Given the description of an element on the screen output the (x, y) to click on. 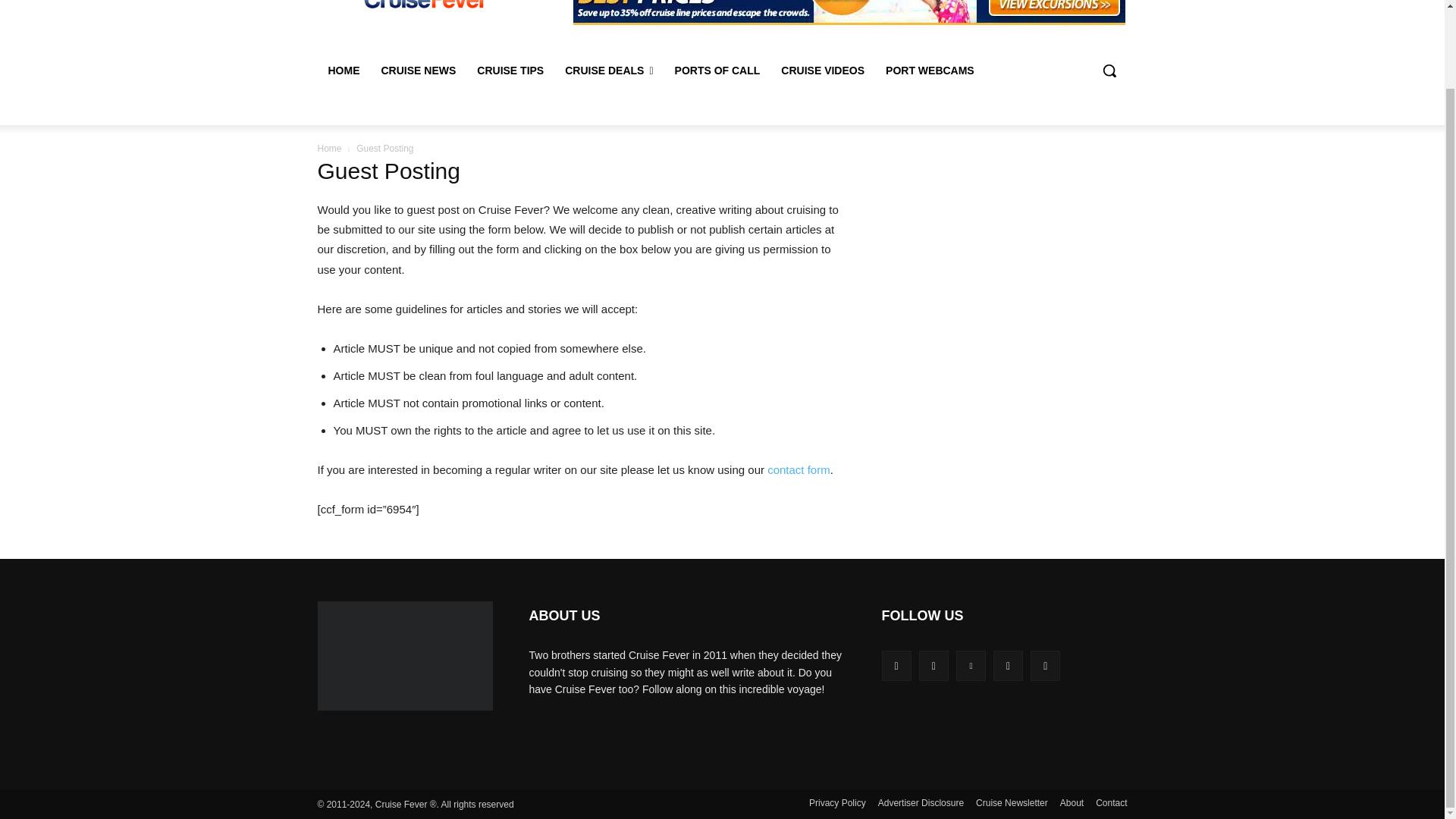
HOME (343, 70)
CRUISE DEALS (608, 70)
CRUISE NEWS (417, 70)
CRUISE TIPS (509, 70)
